Given the description of an element on the screen output the (x, y) to click on. 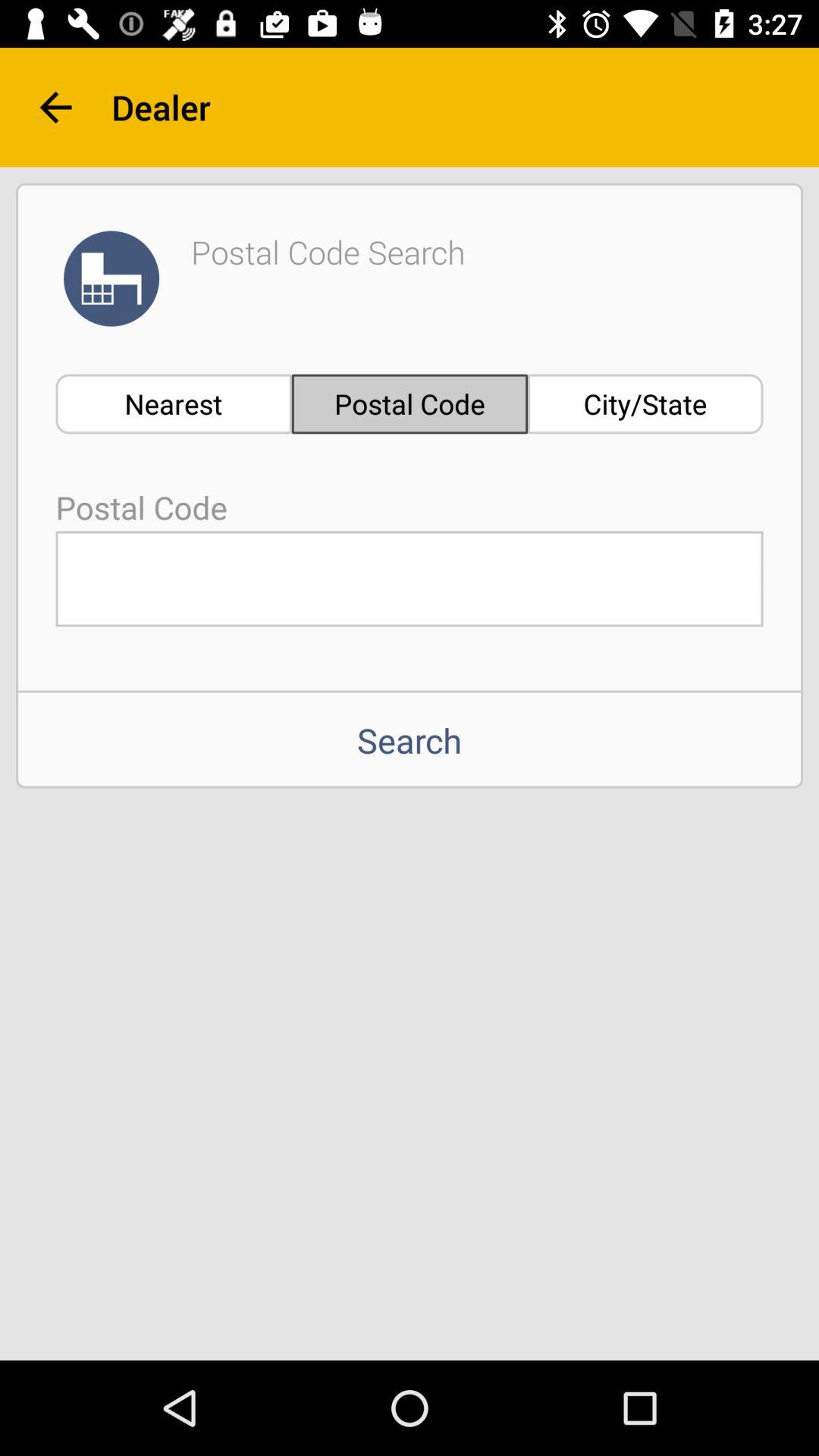
click item below postal code (409, 578)
